Given the description of an element on the screen output the (x, y) to click on. 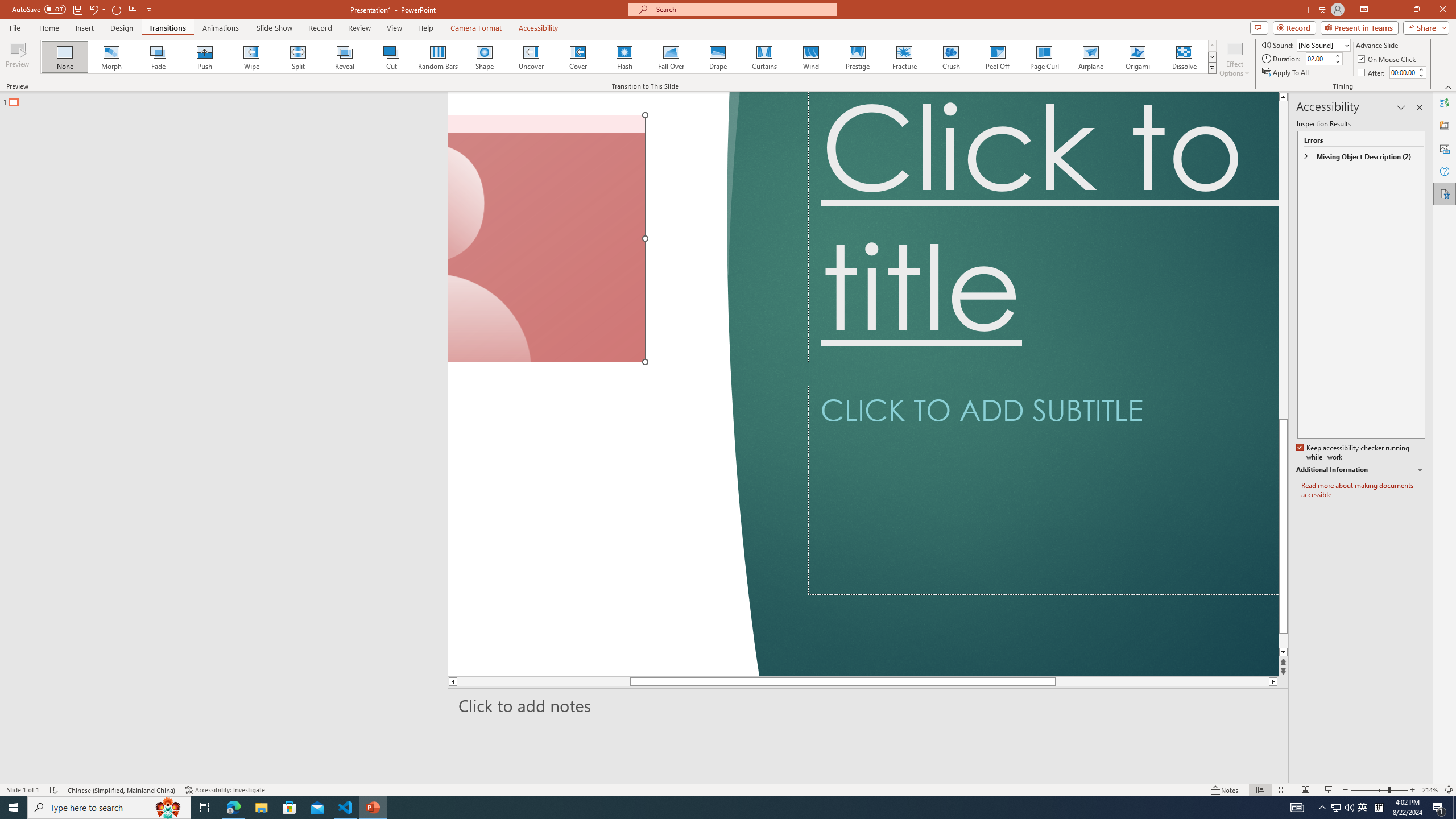
Wipe (251, 56)
Dissolve (1183, 56)
Outline (227, 99)
Translator (1444, 102)
Decorative Locked (602, 383)
Additional Information (1360, 469)
Camera Format (475, 28)
Wind (810, 56)
Push (205, 56)
Slide Notes (868, 705)
On Mouse Click (1387, 58)
